Given the description of an element on the screen output the (x, y) to click on. 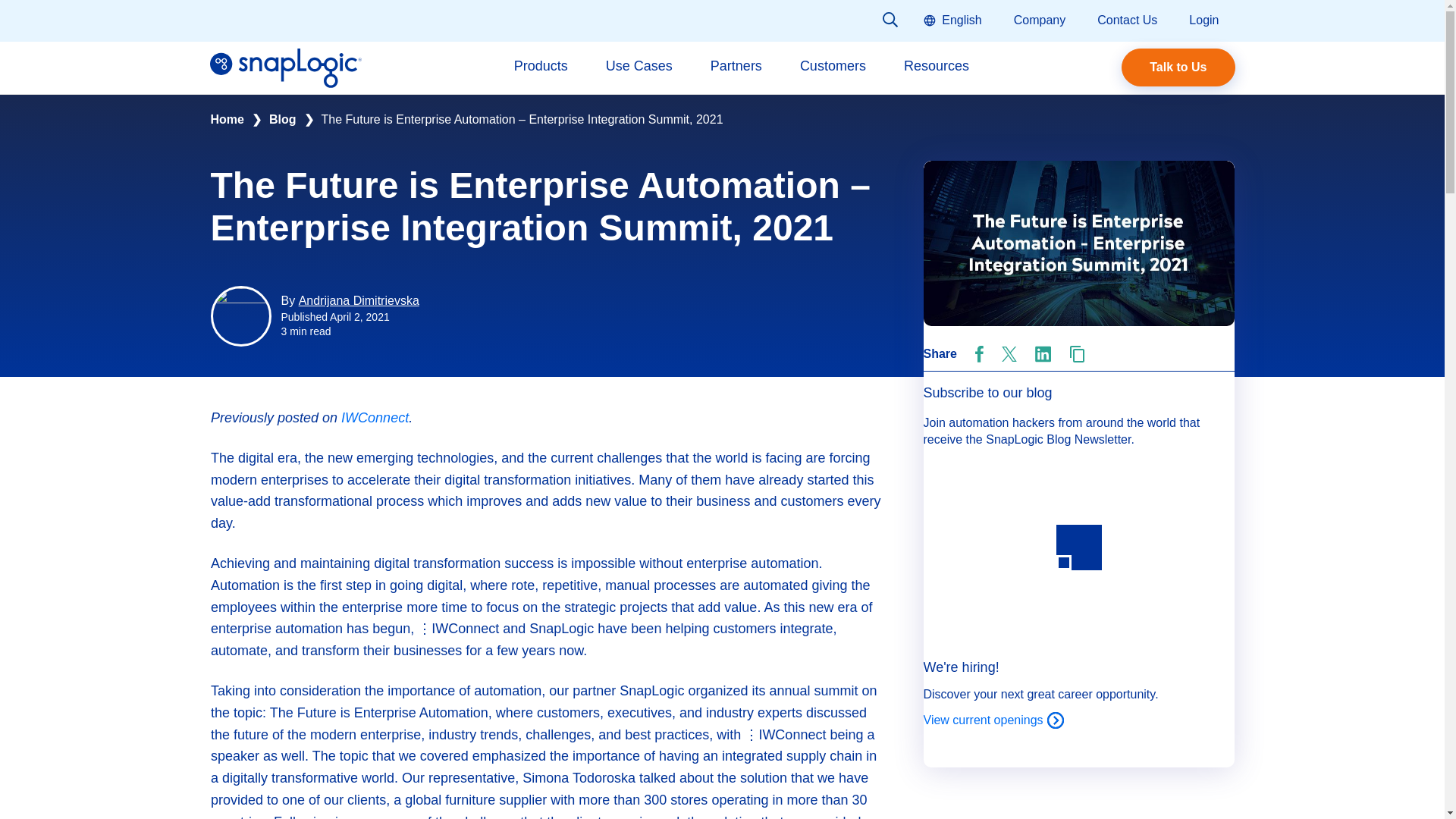
SnapLogic Home Page (285, 78)
Contact Us (1127, 19)
Company (1039, 19)
English (951, 18)
Products (540, 67)
Use Cases (639, 67)
Customers (833, 67)
Login (1203, 19)
SnapLogic Home Page (285, 67)
Resources (936, 67)
